Given the description of an element on the screen output the (x, y) to click on. 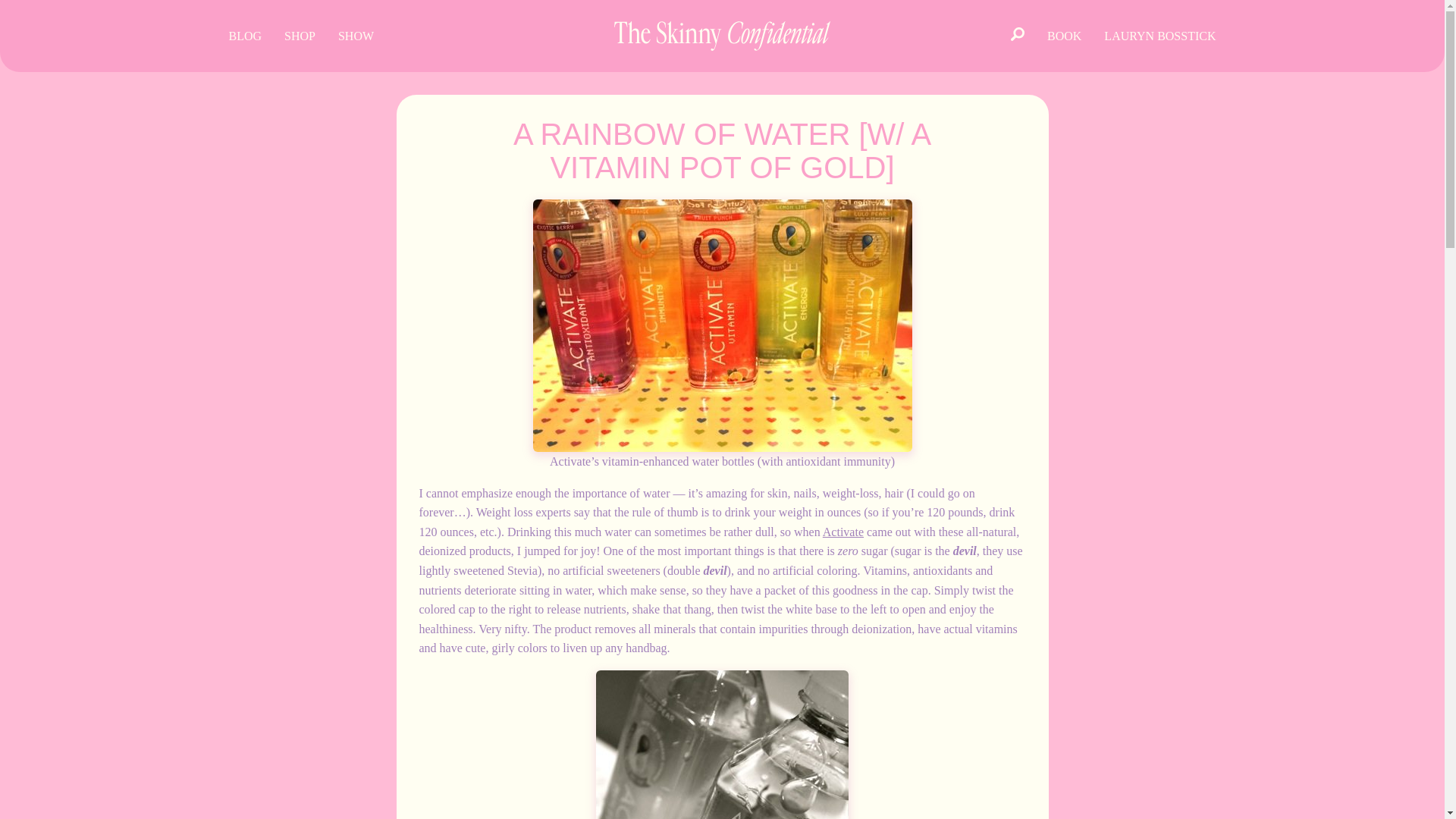
return to home page (721, 35)
LAURYN BOSSTICK (1160, 36)
The Skinny Confidential  (721, 325)
The Skinny Confidential  (721, 744)
open search (1016, 35)
